Given the description of an element on the screen output the (x, y) to click on. 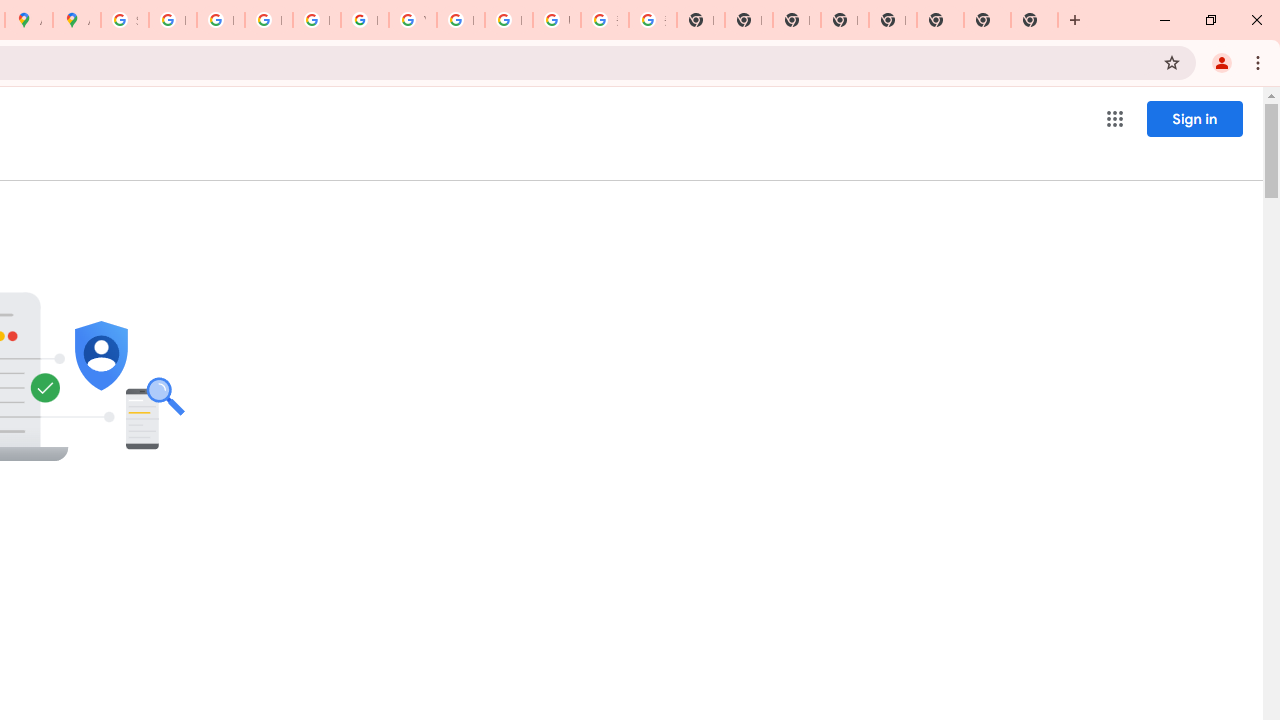
Privacy Help Center - Policies Help (268, 20)
